Given the description of an element on the screen output the (x, y) to click on. 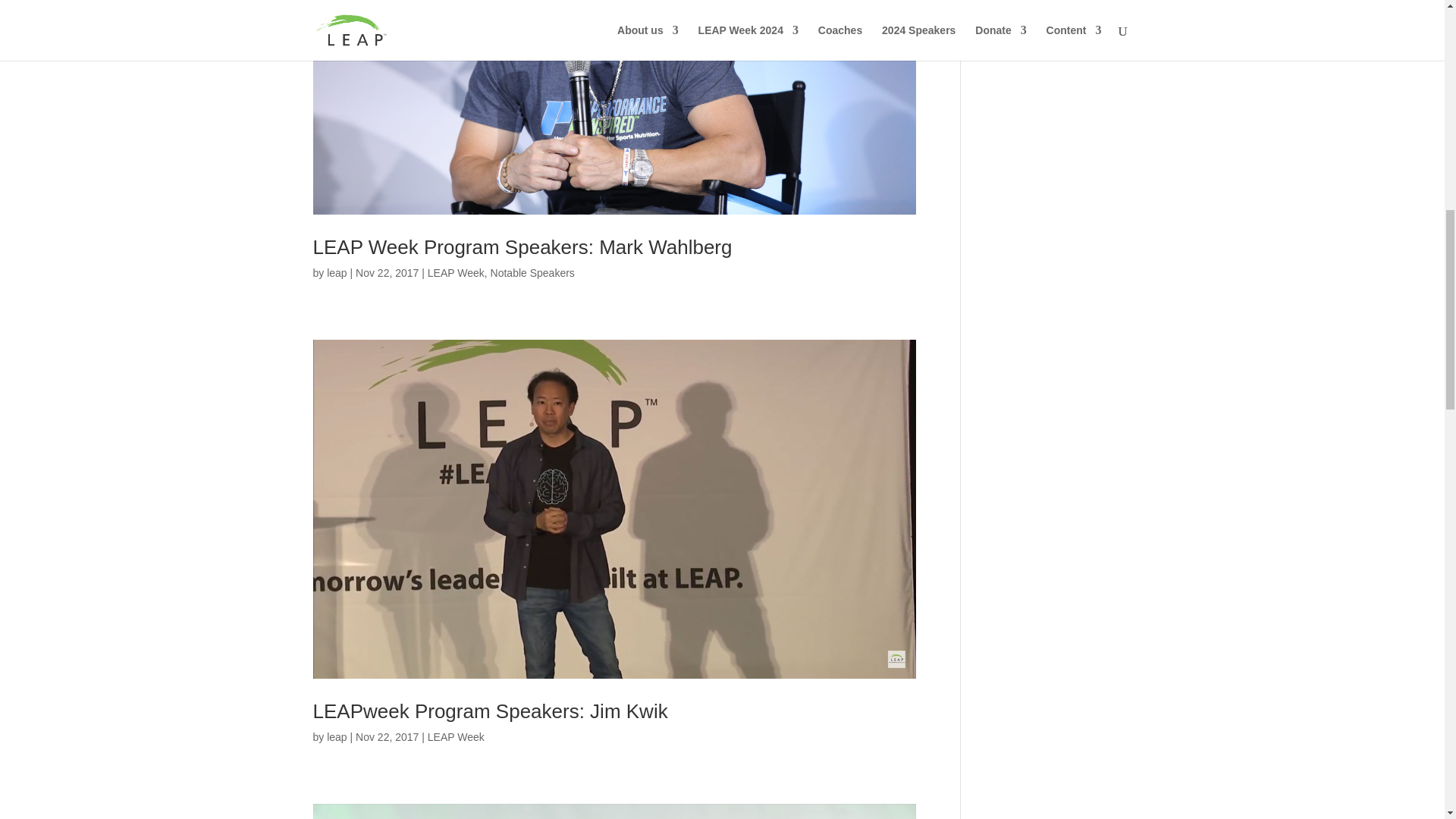
Posts by leap (336, 272)
LEAP Week Program Speakers: Mark Wahlberg (522, 246)
Posts by leap (336, 736)
leap (336, 272)
